Given the description of an element on the screen output the (x, y) to click on. 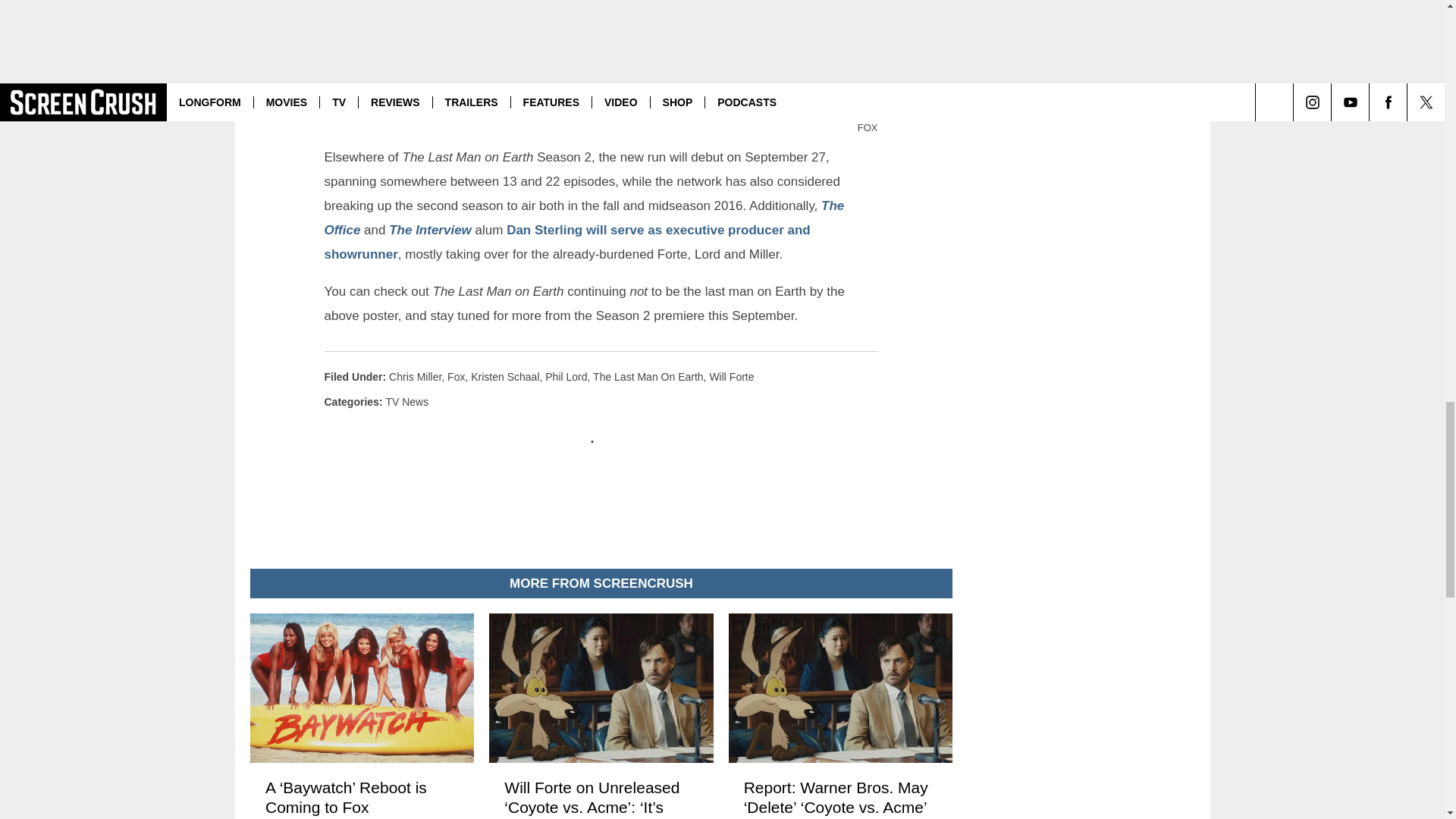
Chris Miller (414, 377)
The Office (584, 218)
Dan Sterling will serve as executive producer and showrunner (567, 241)
Phil Lord (565, 377)
Will Forte (731, 377)
The Interview (429, 229)
The Last Man On Earth (647, 377)
Kristen Schaal (504, 377)
Fox (455, 377)
